Given the description of an element on the screen output the (x, y) to click on. 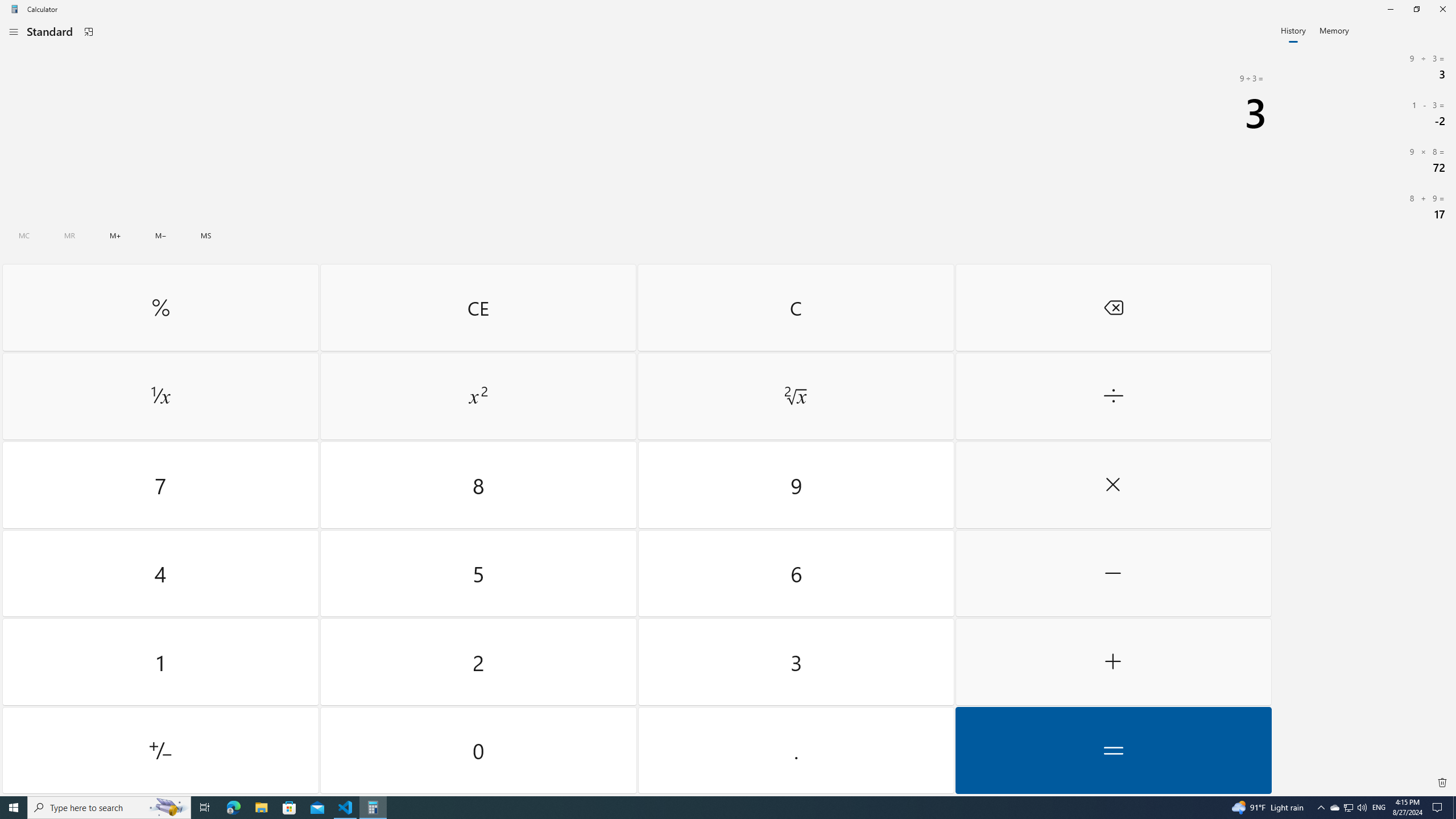
Minimize Calculator (1390, 9)
Divide by (1113, 396)
Zero (478, 749)
Clear entry (478, 307)
Clear (795, 307)
Multiply by (1113, 485)
Six (795, 572)
Clear all memory (24, 235)
Keep on top (88, 31)
Backspace (1113, 307)
Square root (795, 396)
Memory store (206, 235)
